Given the description of an element on the screen output the (x, y) to click on. 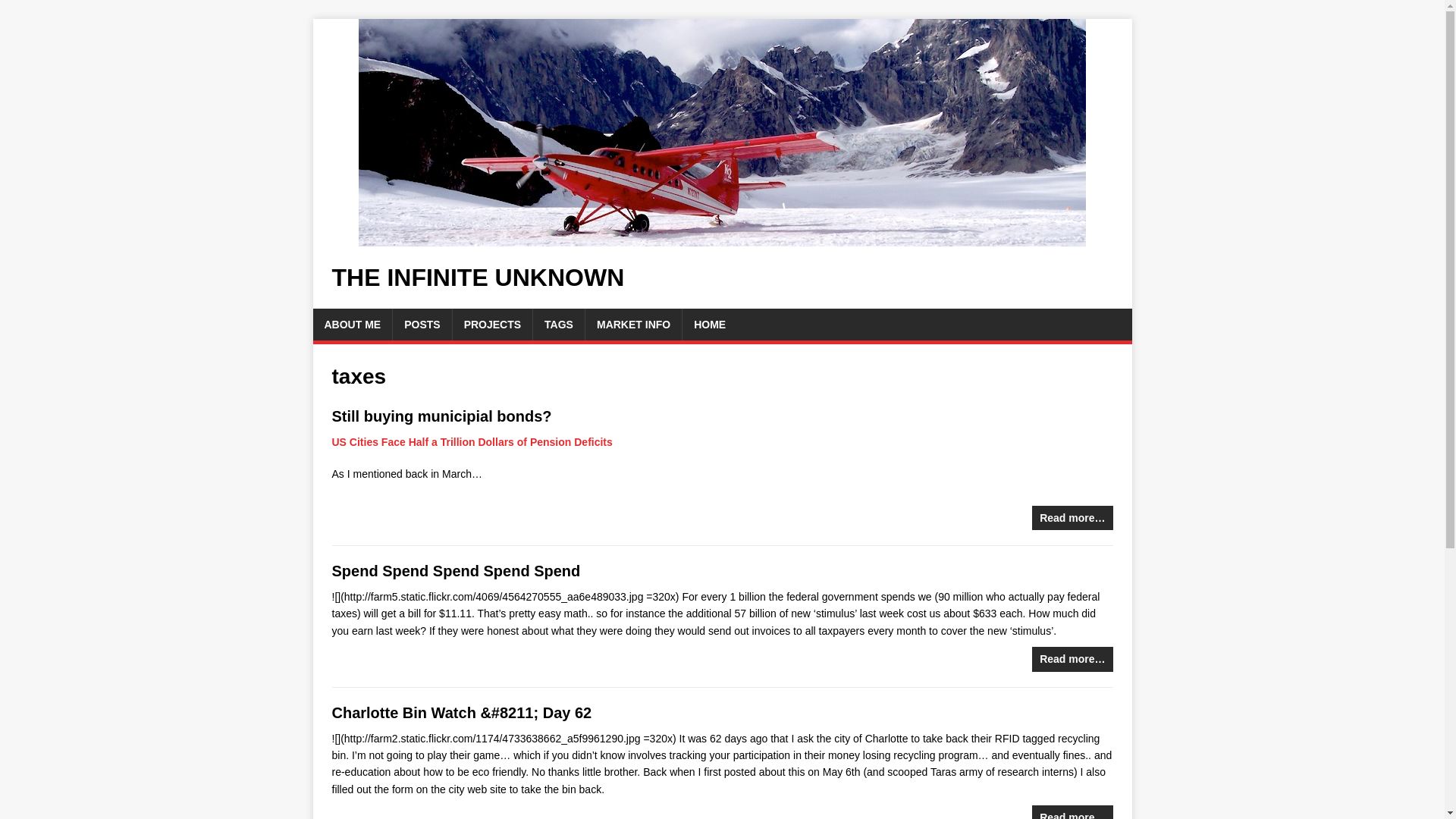
Deficits (592, 441)
THE INFINITE UNKNOWN (477, 277)
POSTS (422, 324)
HOME (709, 324)
US Cities Face Half a Trillion Dollars of Pension (453, 441)
Still buying municipial bonds? (441, 416)
TAGS (558, 324)
Spend Spend Spend Spend Spend (455, 570)
MARKET INFO (633, 324)
ABOUT ME (352, 324)
The Infinite Unknown (477, 277)
PROJECTS (492, 324)
